Given the description of an element on the screen output the (x, y) to click on. 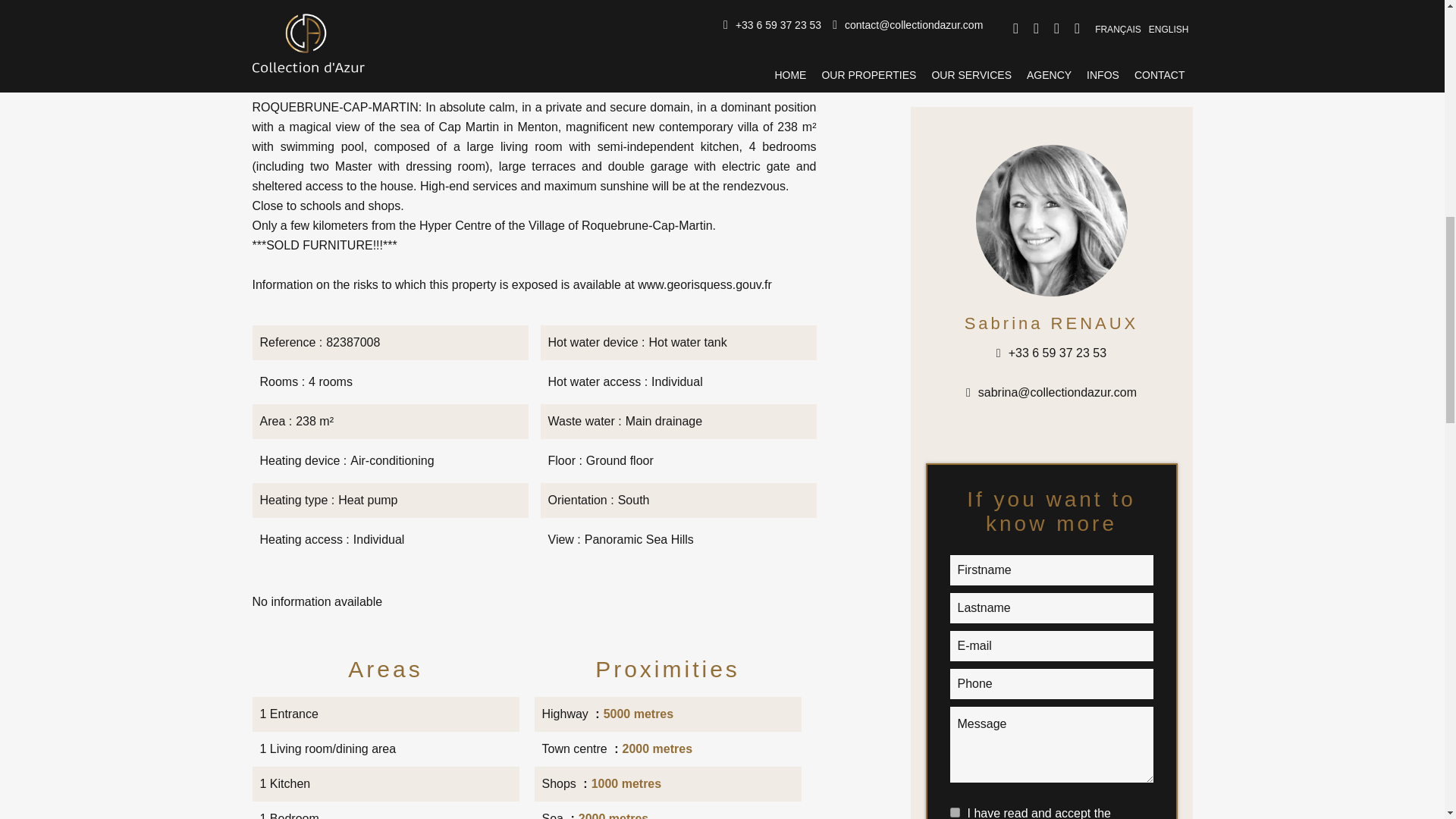
on (954, 812)
